Given the description of an element on the screen output the (x, y) to click on. 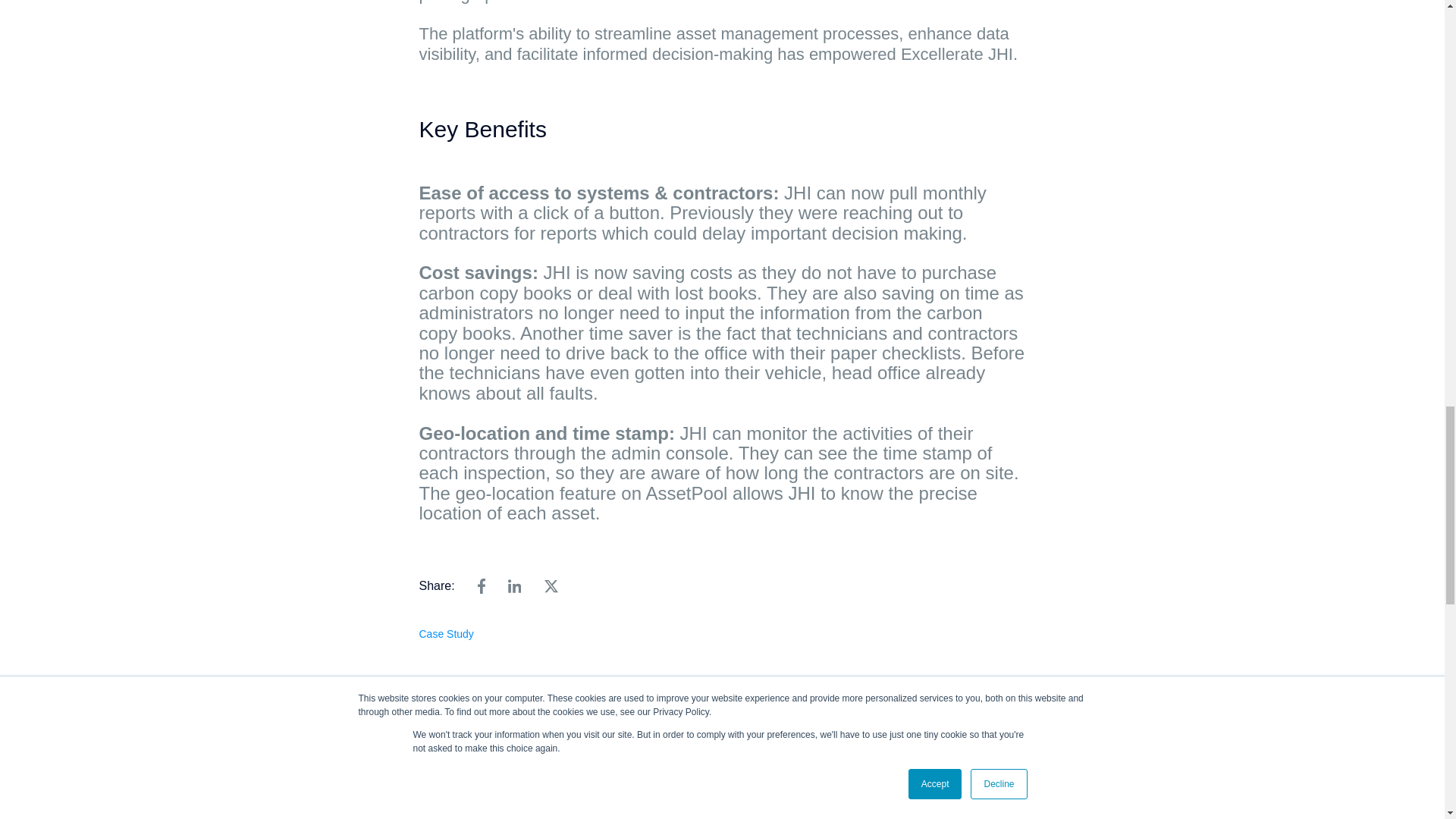
Share on X (551, 585)
